Given the description of an element on the screen output the (x, y) to click on. 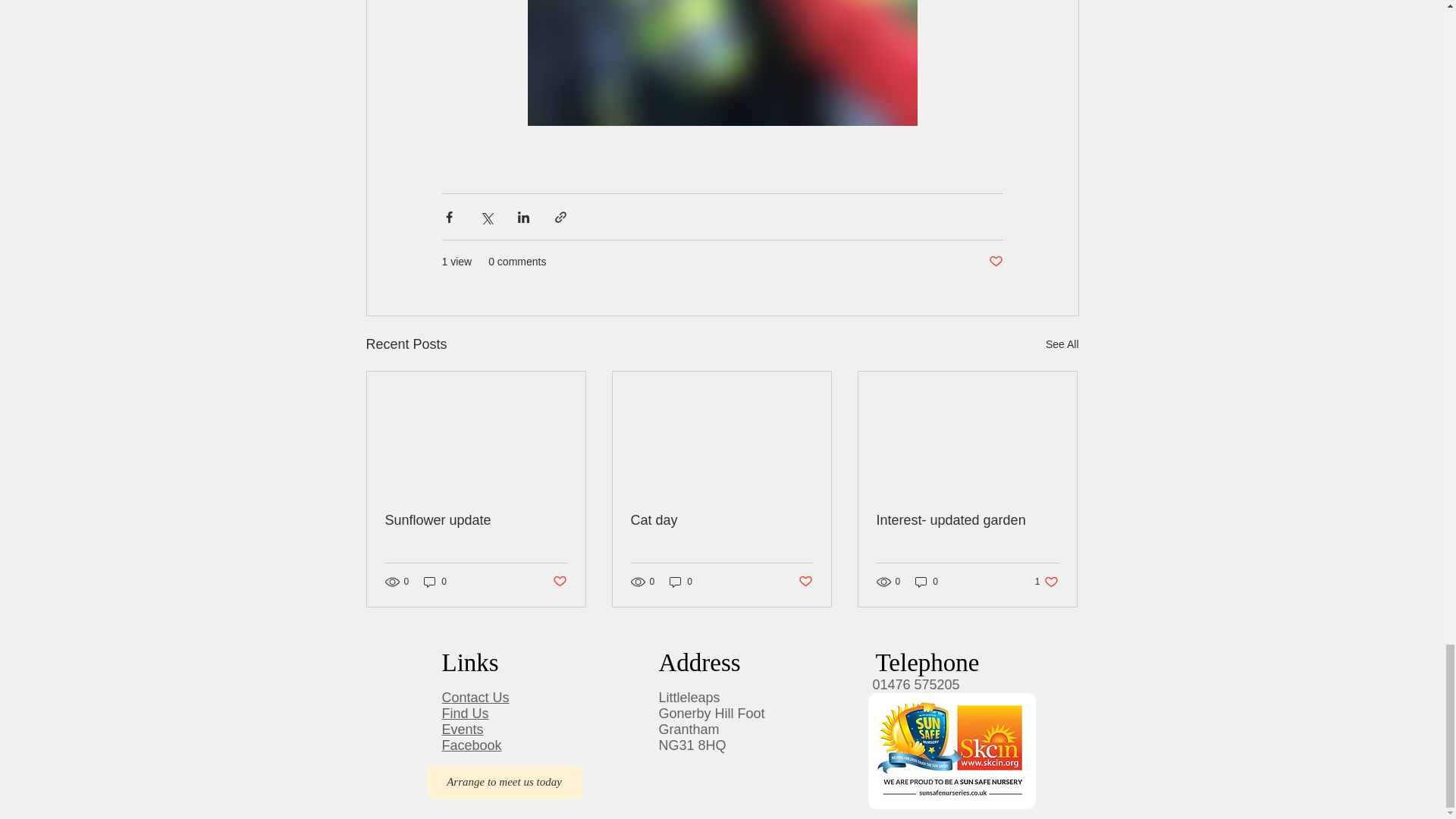
See All (1061, 344)
0 (435, 581)
0 (681, 581)
Post not marked as liked (558, 581)
Cat day (721, 520)
Post not marked as liked (995, 261)
Sunflower update (476, 520)
